Given the description of an element on the screen output the (x, y) to click on. 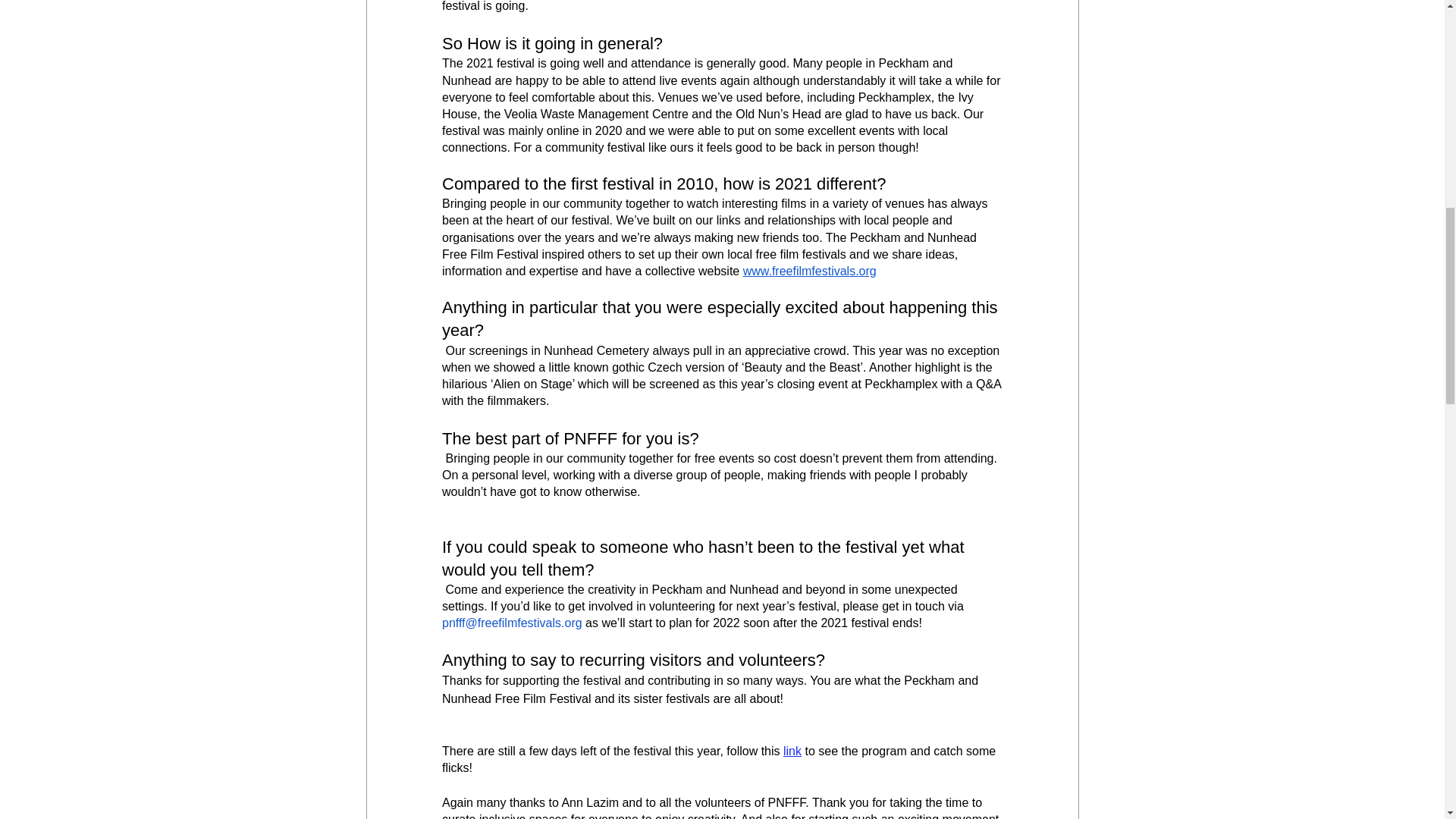
www.freefilmfestivals.org (809, 270)
link (791, 750)
